Given the description of an element on the screen output the (x, y) to click on. 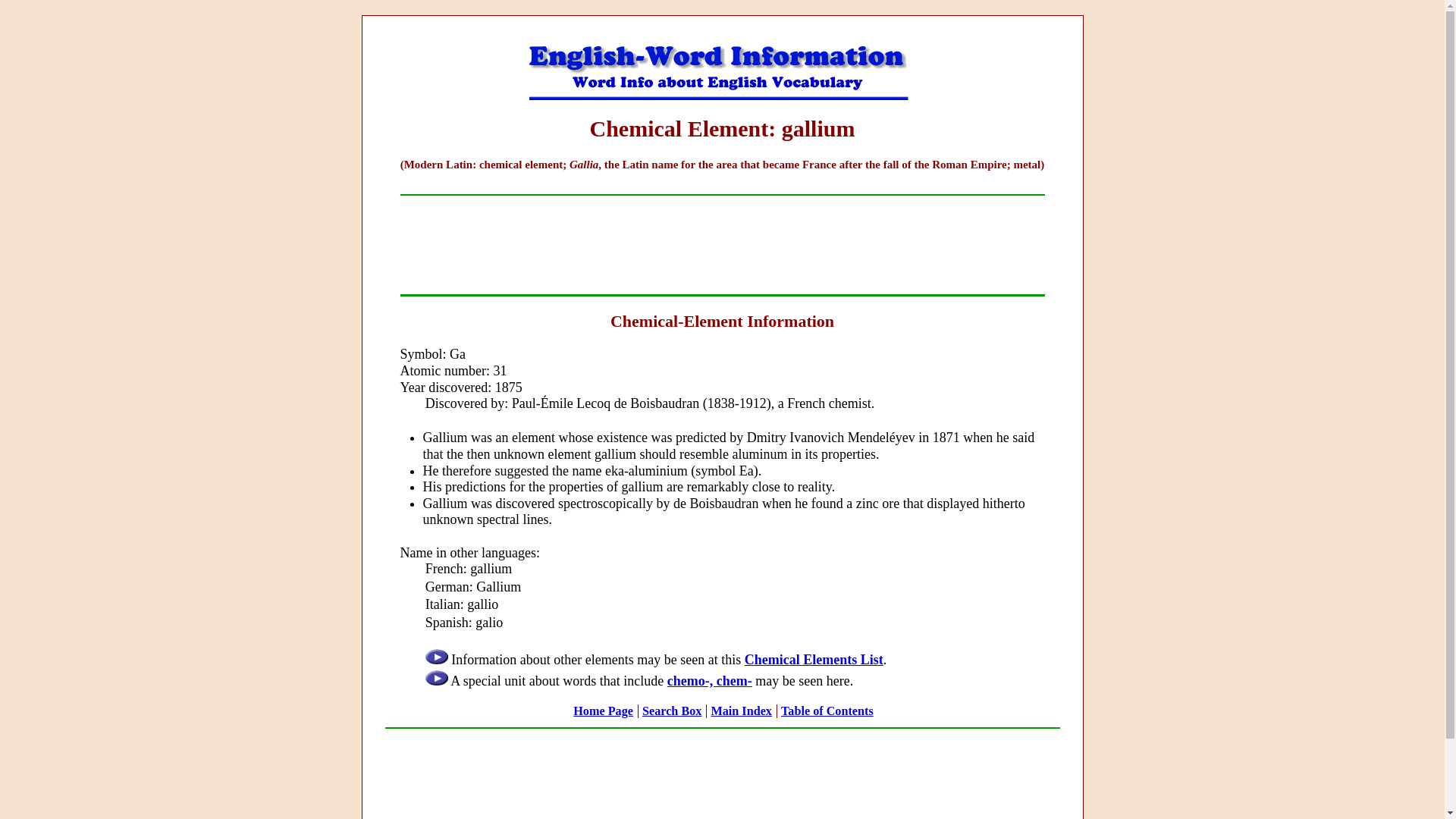
chemo-, chem- (709, 680)
Home Page (603, 711)
Main Index (740, 711)
Chemical Elements List (813, 659)
Table of Contents (826, 711)
Advertisement (721, 770)
Search Box (671, 711)
Advertisement (721, 244)
